Given the description of an element on the screen output the (x, y) to click on. 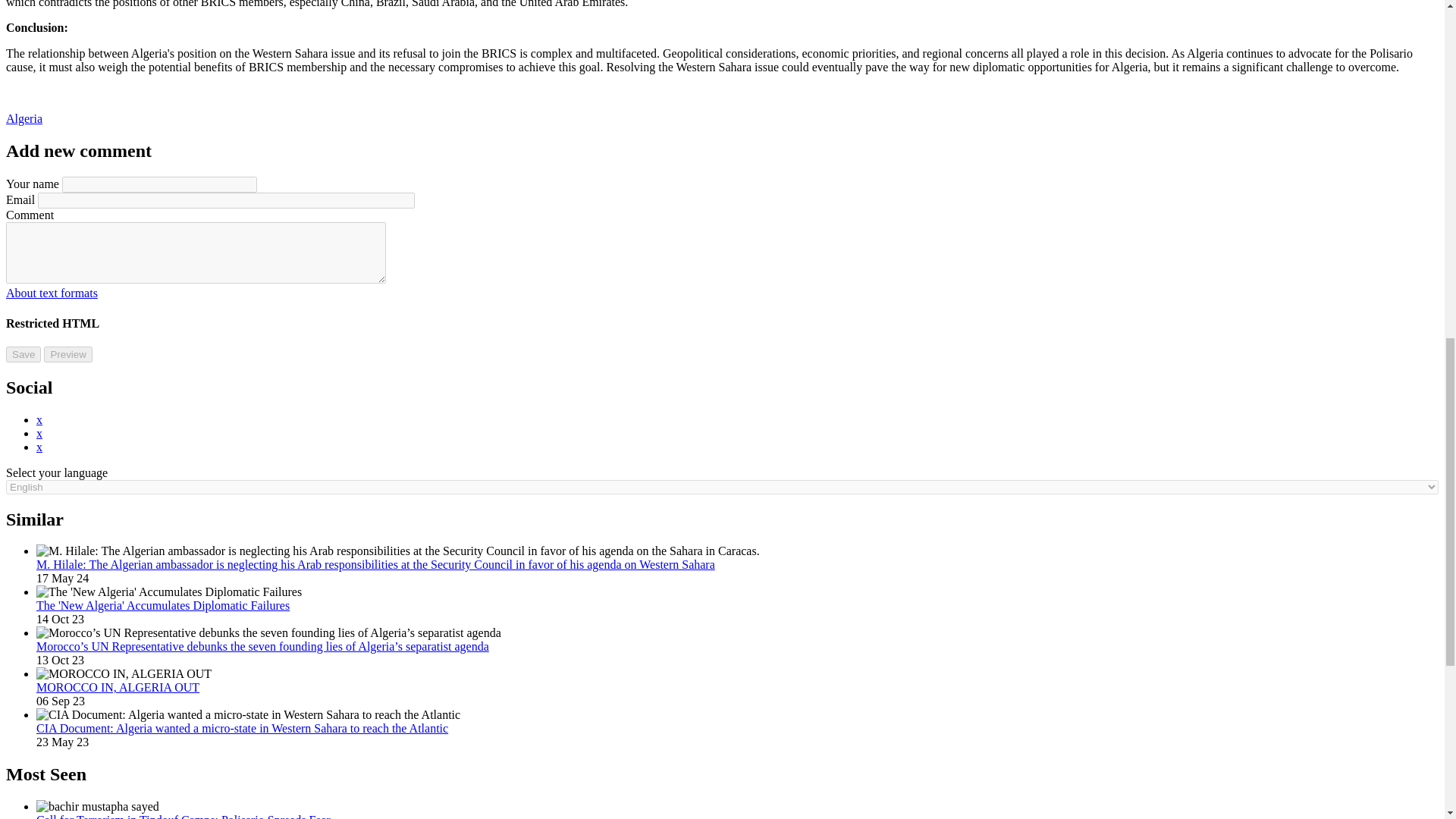
Algeria (23, 118)
About text formats (51, 292)
Preview (67, 354)
MOROCCO IN, ALGERIA OUT (117, 686)
Save (22, 354)
Call for Terrorism in Tindouf Camps: Polisario Spreads Fear (183, 816)
Save (22, 354)
Preview (67, 354)
The 'New Algeria' Accumulates Diplomatic Failures (162, 604)
